Given the description of an element on the screen output the (x, y) to click on. 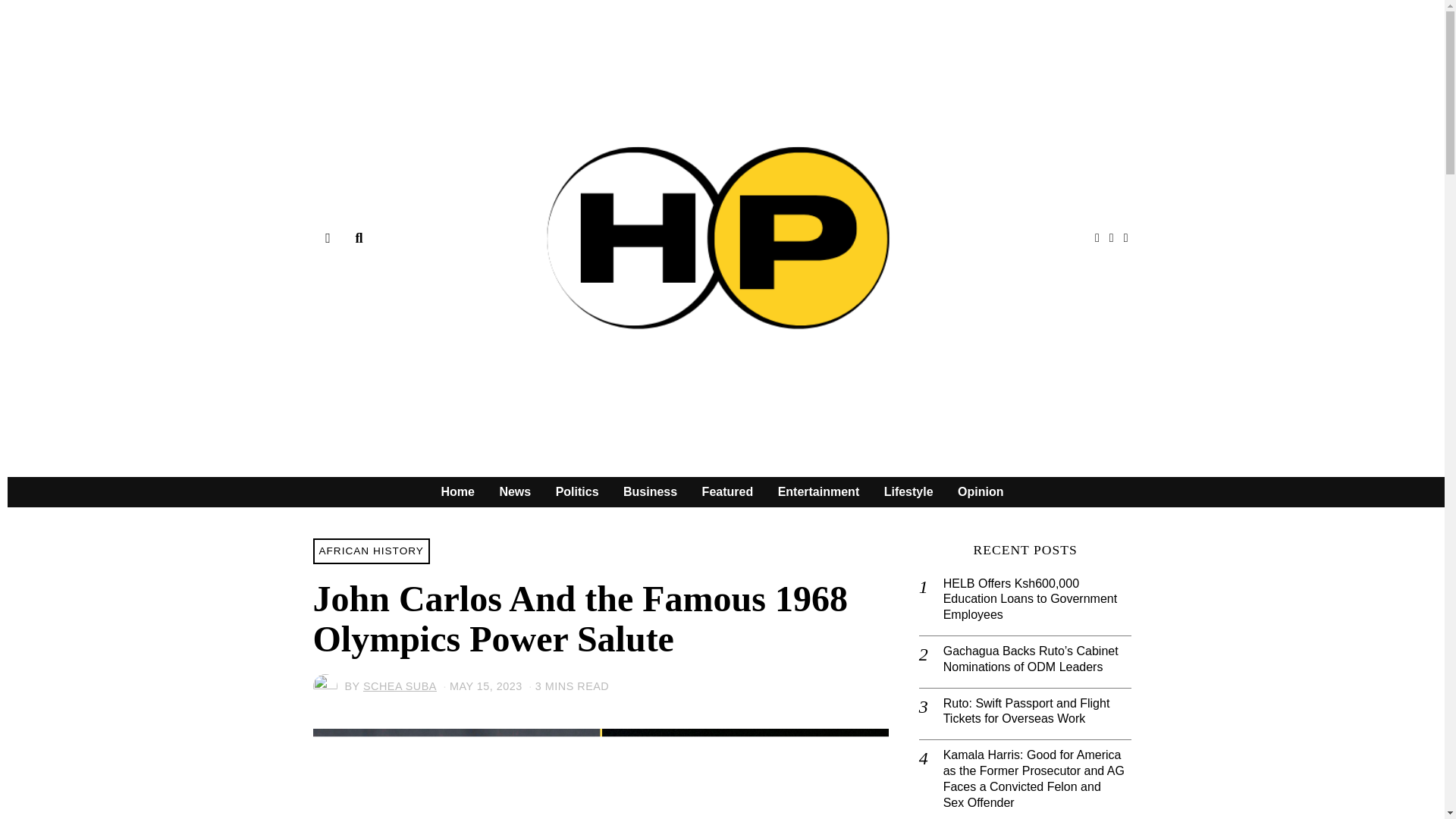
Politics (577, 491)
Entertainment (818, 491)
News (514, 491)
Lifestyle (908, 491)
Opinion (980, 491)
Featured (727, 491)
Home (457, 491)
Business (649, 491)
SCHEA SUBA (399, 686)
AFRICAN HISTORY (371, 551)
